Given the description of an element on the screen output the (x, y) to click on. 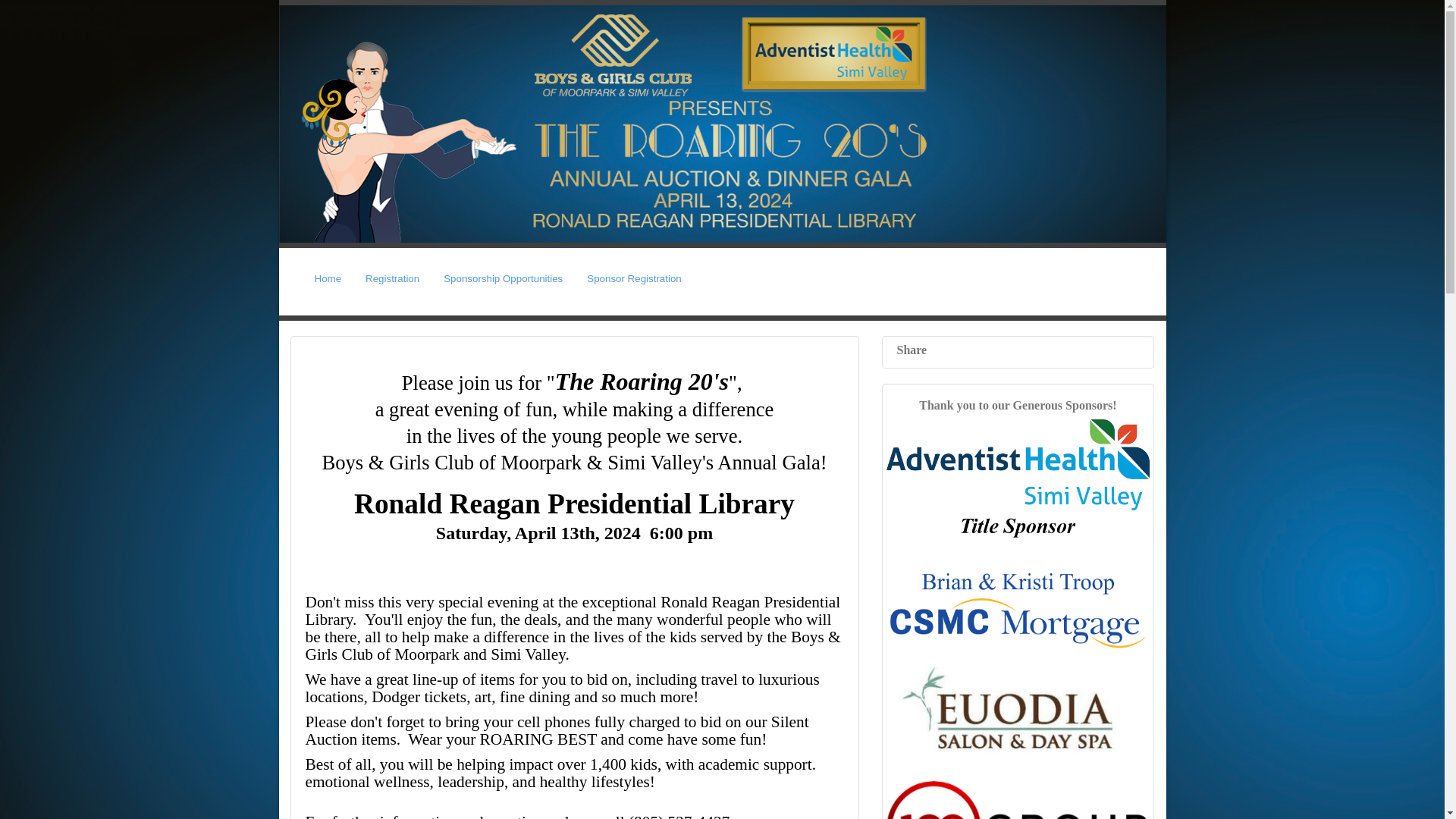
Registration (392, 278)
Home (328, 278)
Sponsorship Opportunities (502, 278)
Sponsor Registration (633, 278)
